Given the description of an element on the screen output the (x, y) to click on. 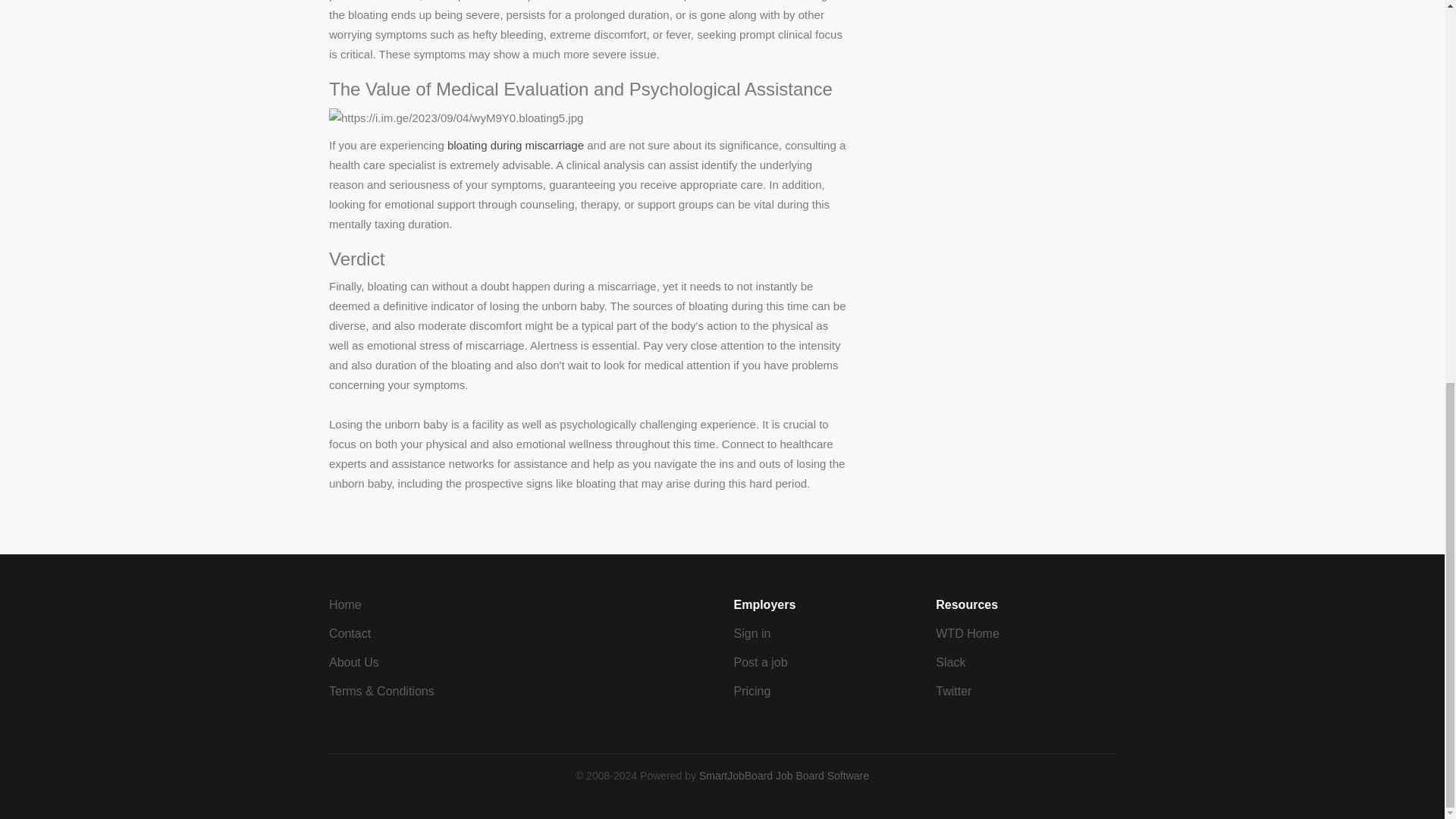
Slack (950, 662)
Job Board Software, Script (783, 775)
Home (345, 604)
WTD Home (967, 633)
About Us (353, 662)
Twitter (953, 690)
Pricing (752, 690)
bloating during miscarriage (514, 144)
Sign in (752, 633)
Post a job (760, 662)
